Given the description of an element on the screen output the (x, y) to click on. 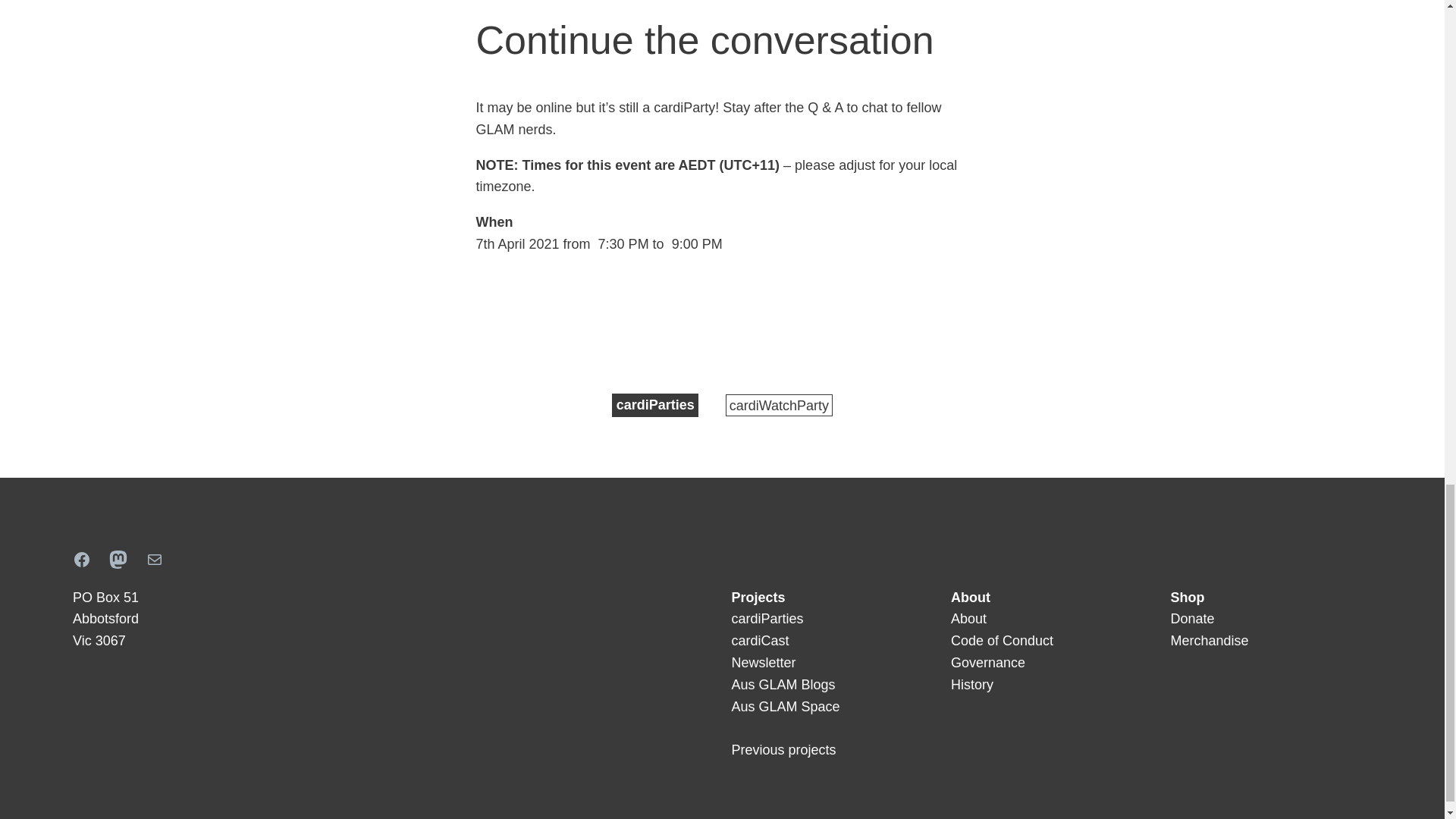
Code of Conduct (1001, 640)
cardiCast (759, 640)
About (968, 618)
cardiWatchParty (778, 404)
Donate (1192, 618)
cardiParties (654, 404)
Newsletter (762, 662)
Mail (154, 559)
Previous projects (782, 749)
Governance (987, 662)
